Given the description of an element on the screen output the (x, y) to click on. 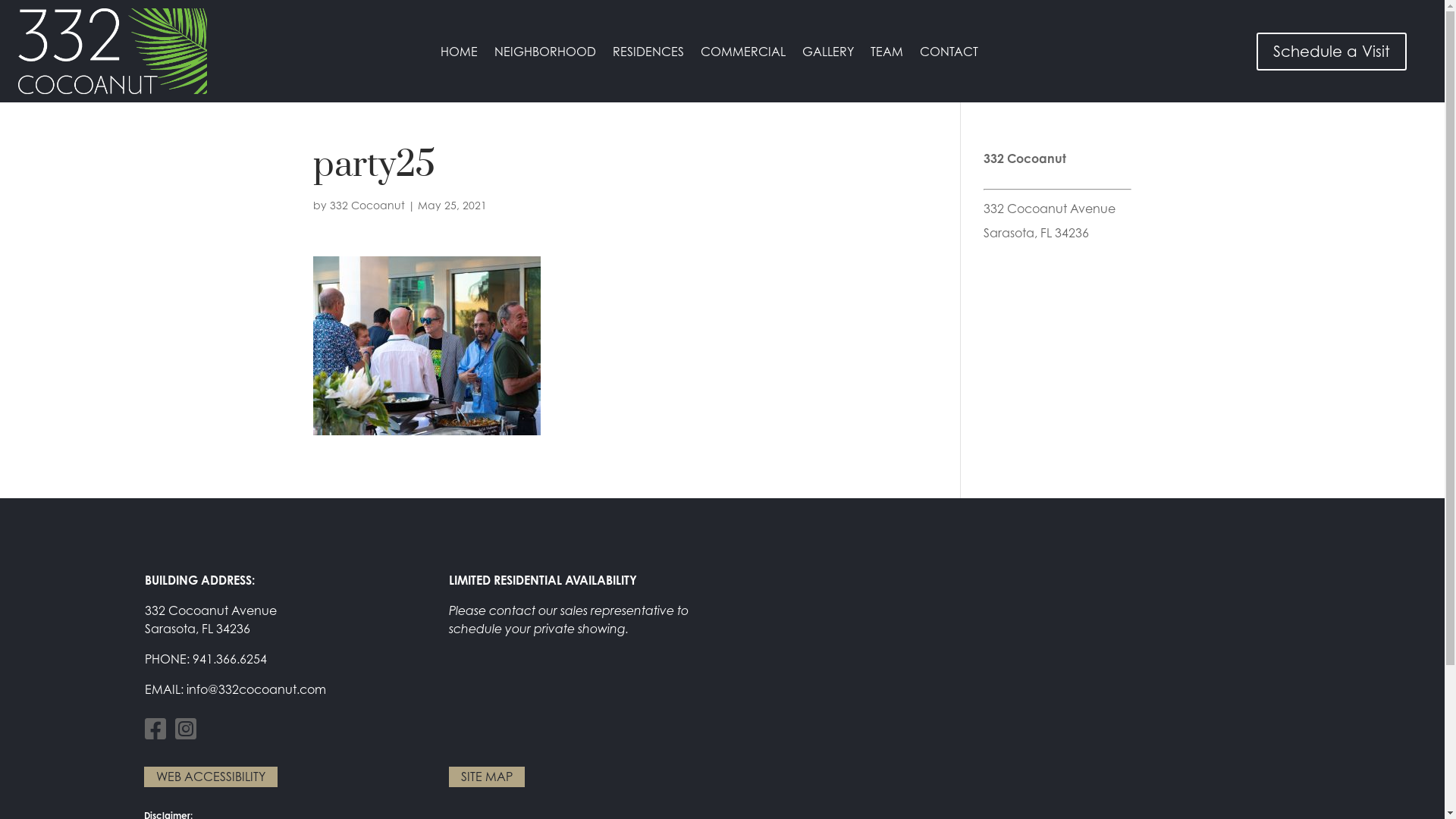
WEB ACCESSIBILITY Element type: text (210, 776)
NEIGHBORHOOD Element type: text (545, 53)
Schedule a Visit Element type: text (1331, 50)
Skip to content Element type: text (0, 0)
COMMERCIAL Element type: text (742, 53)
CONTACT Element type: text (948, 53)
332 Cocoanut Instagram Element type: text (184, 732)
RESIDENCES Element type: text (648, 53)
map of 332 cocoanut in downtown sarasota Element type: hover (1026, 647)
941.366.6254 Element type: text (229, 657)
SITE MAP Element type: text (486, 776)
HOME Element type: text (458, 53)
TEAM Element type: text (886, 53)
GALLERY Element type: text (827, 53)
332CocoanutLogo Element type: hover (112, 89)
332 Cocoanut Facebook Element type: text (156, 732)
info@332cocoanut.com Element type: text (256, 688)
332 Cocoanut Element type: text (366, 204)
